Given the description of an element on the screen output the (x, y) to click on. 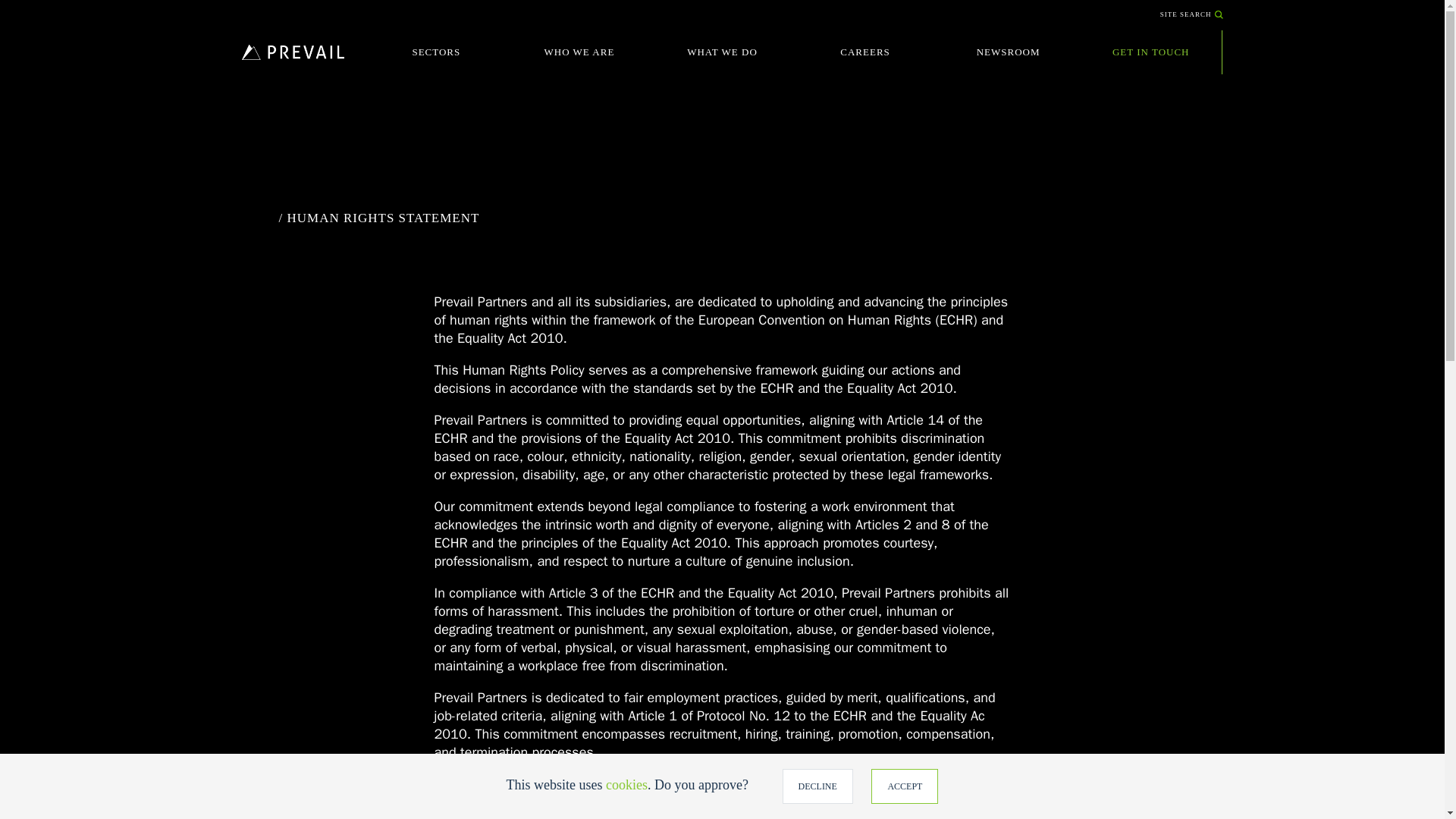
NEWSROOM (1008, 52)
SITE SEARCH (1191, 14)
GET IN TOUCH (1151, 52)
WHO WE ARE (579, 52)
SECTORS (436, 52)
HOME (293, 52)
CAREERS (865, 52)
WHAT WE DO (721, 52)
